Given the description of an element on the screen output the (x, y) to click on. 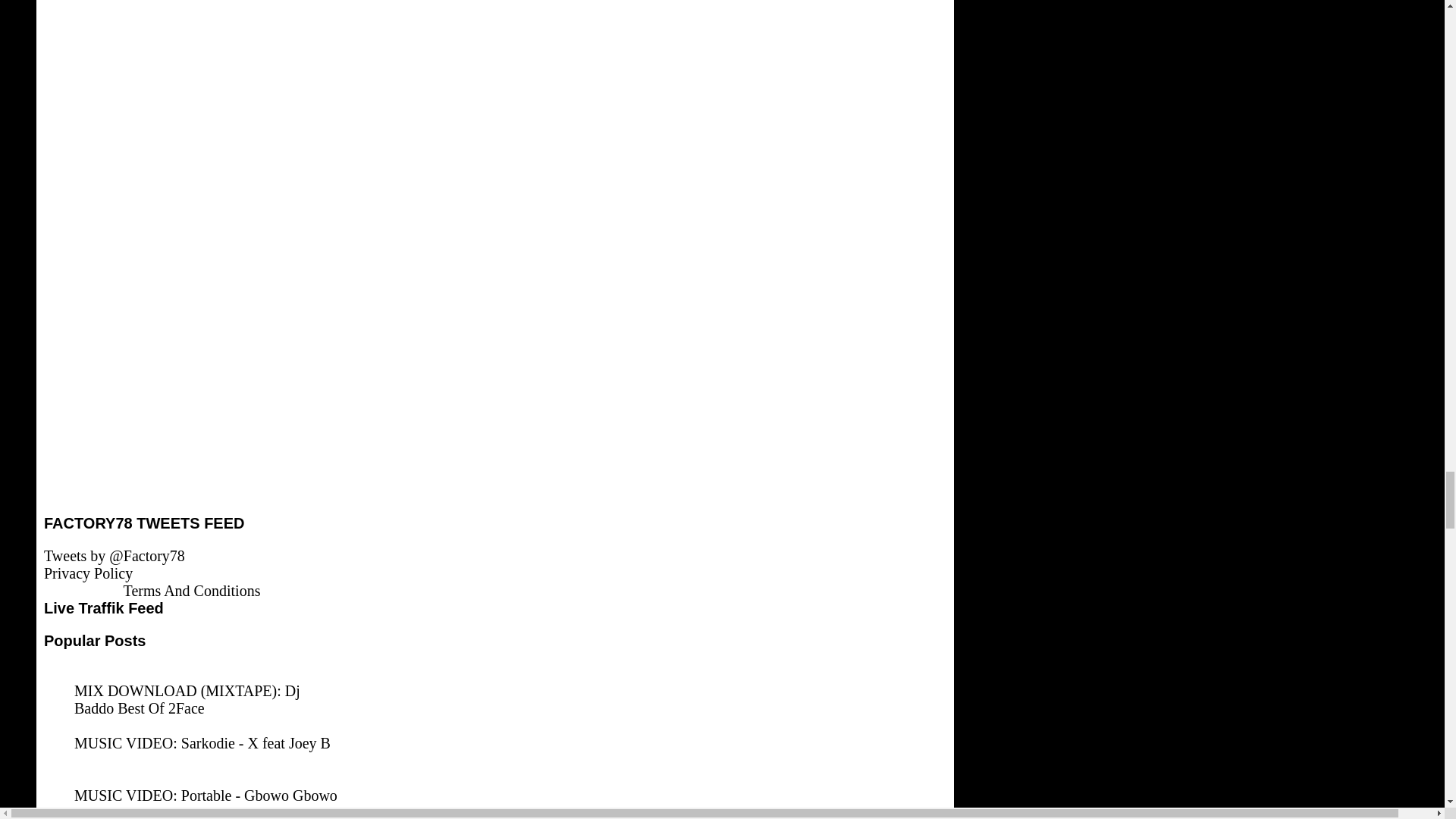
Privacy Policy (87, 573)
Terms And Conditions (191, 590)
